Given the description of an element on the screen output the (x, y) to click on. 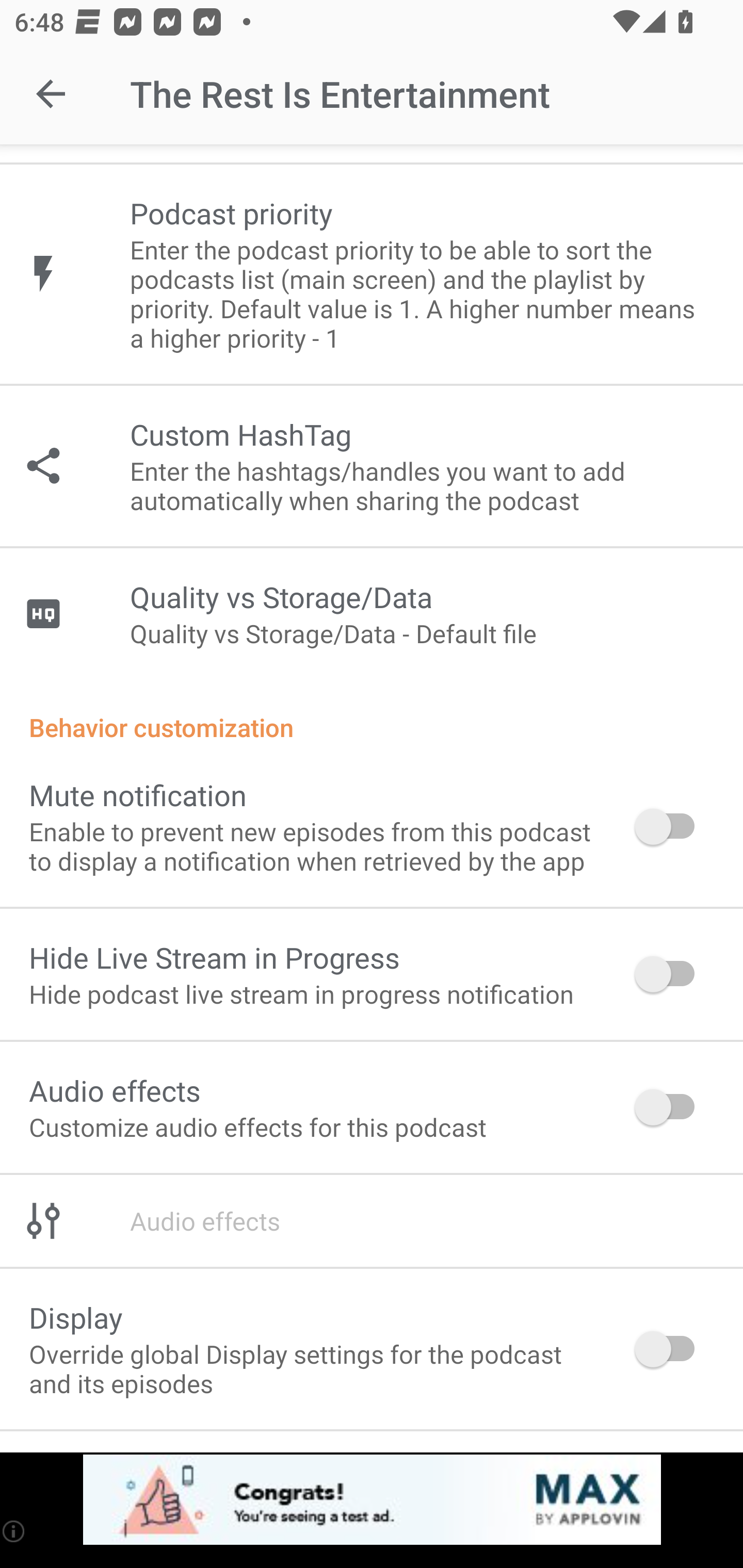
Navigate up (50, 93)
Audio effects (371, 1220)
app-monetization (371, 1500)
(i) (14, 1531)
